Given the description of an element on the screen output the (x, y) to click on. 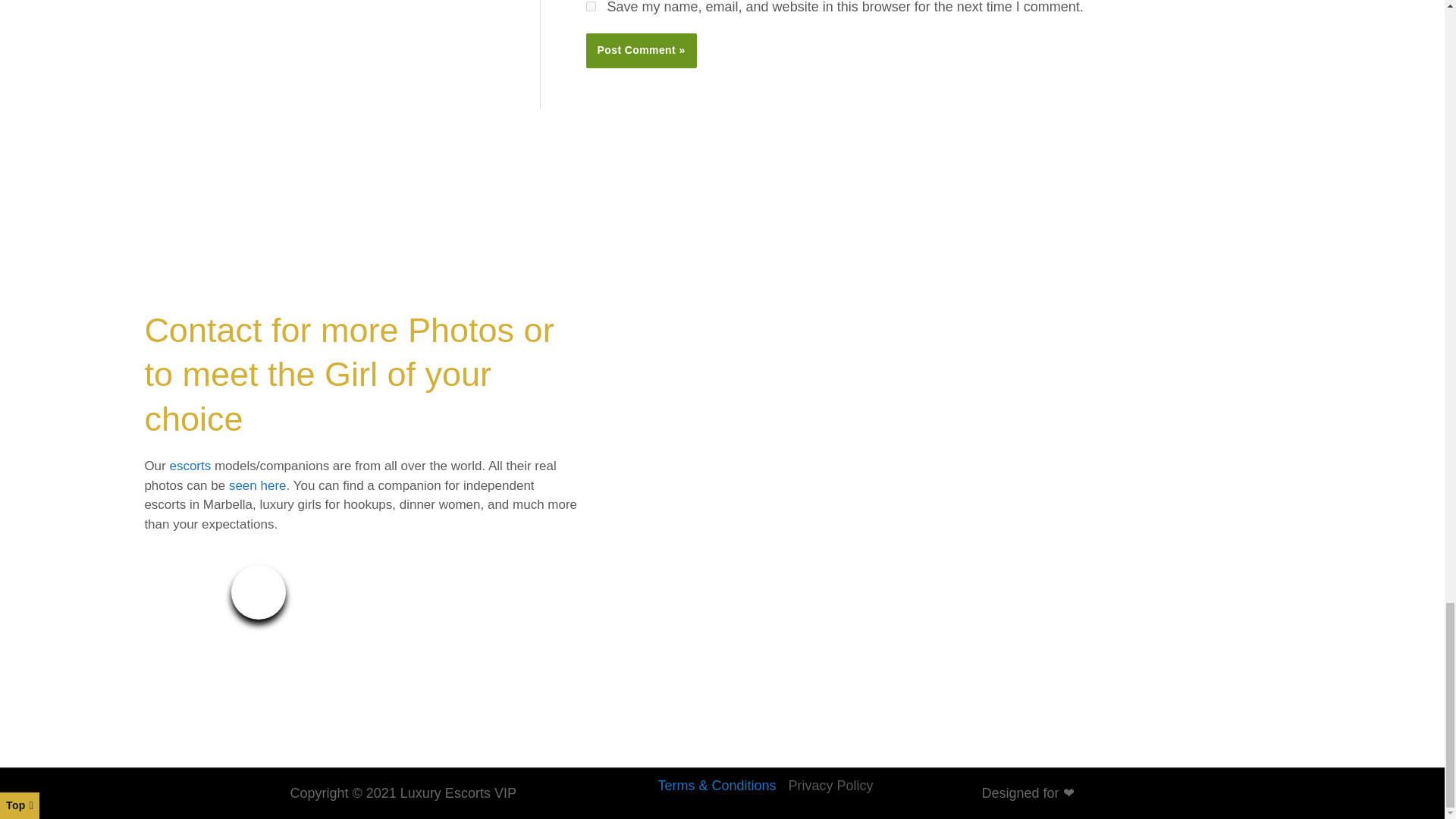
yes (590, 6)
Luxury-escorts-vip-Marbella-Call-Us (258, 592)
